Given the description of an element on the screen output the (x, y) to click on. 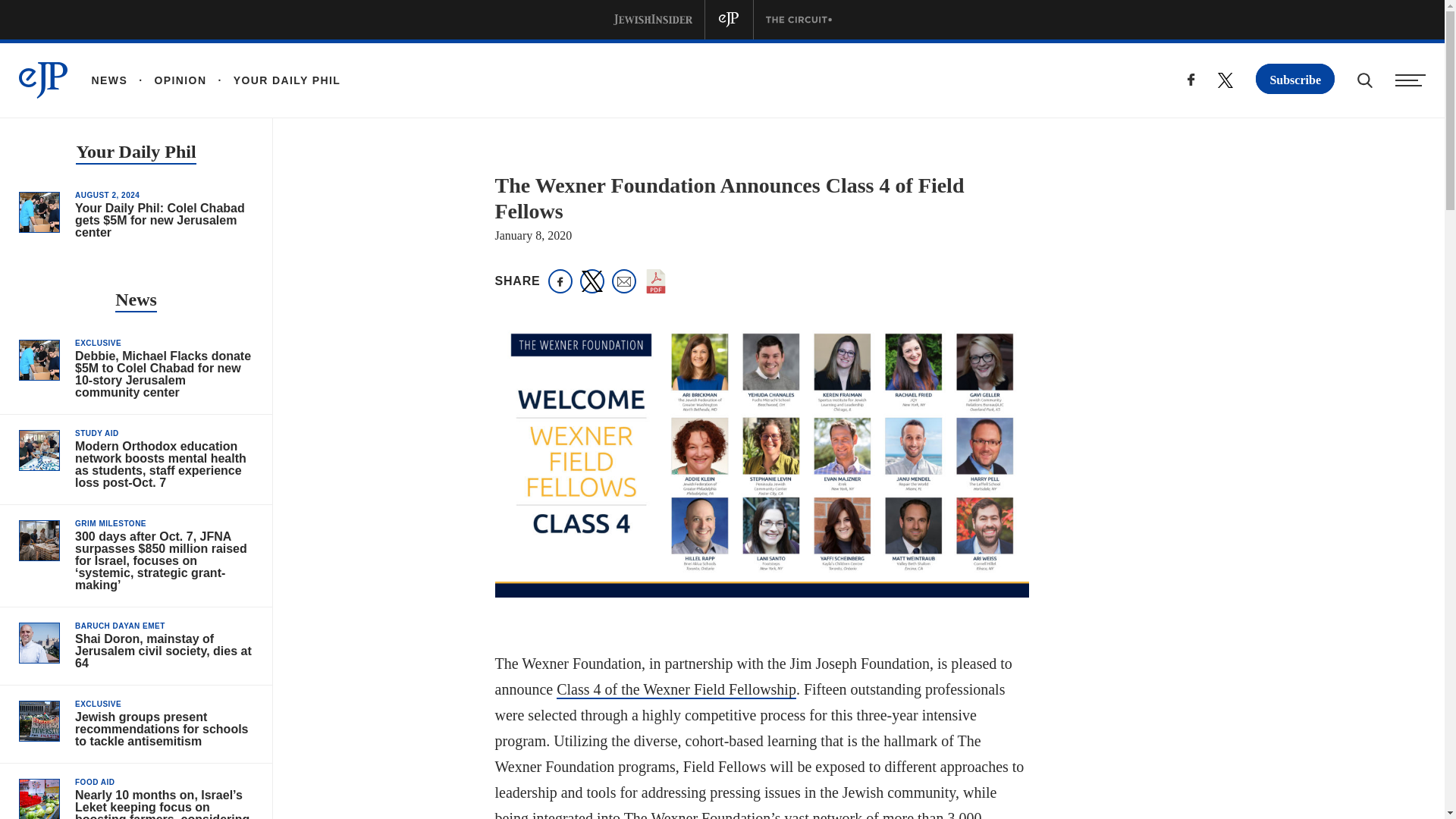
Class 4 of the Wexner Field Fellowship (676, 689)
Subscribe (1295, 78)
Your Daily Phil (135, 153)
OPINION (167, 80)
News (136, 301)
YOUR DAILY PHIL (273, 80)
NEWS (109, 80)
